Given the description of an element on the screen output the (x, y) to click on. 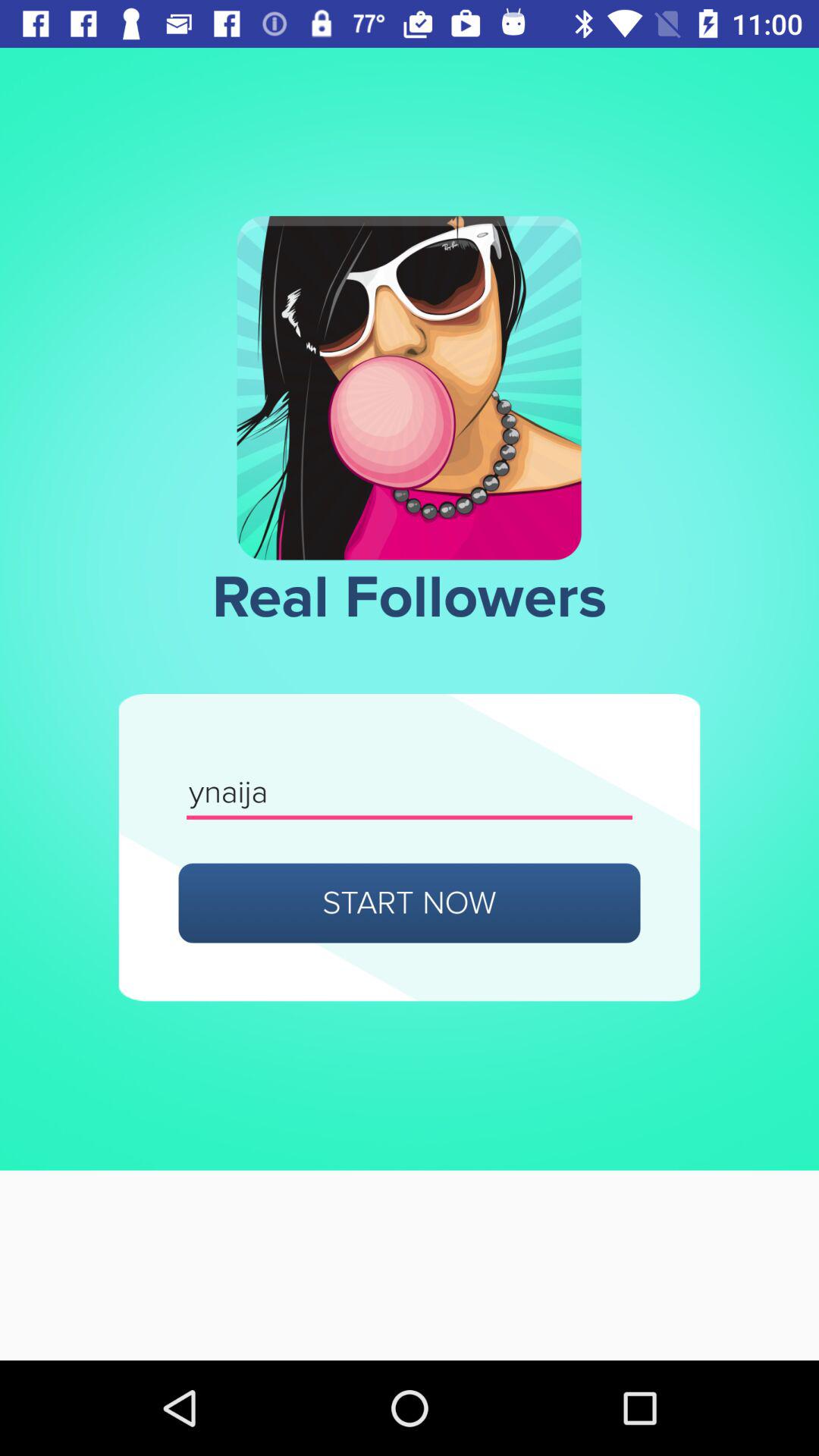
press icon below the real followers (409, 793)
